Given the description of an element on the screen output the (x, y) to click on. 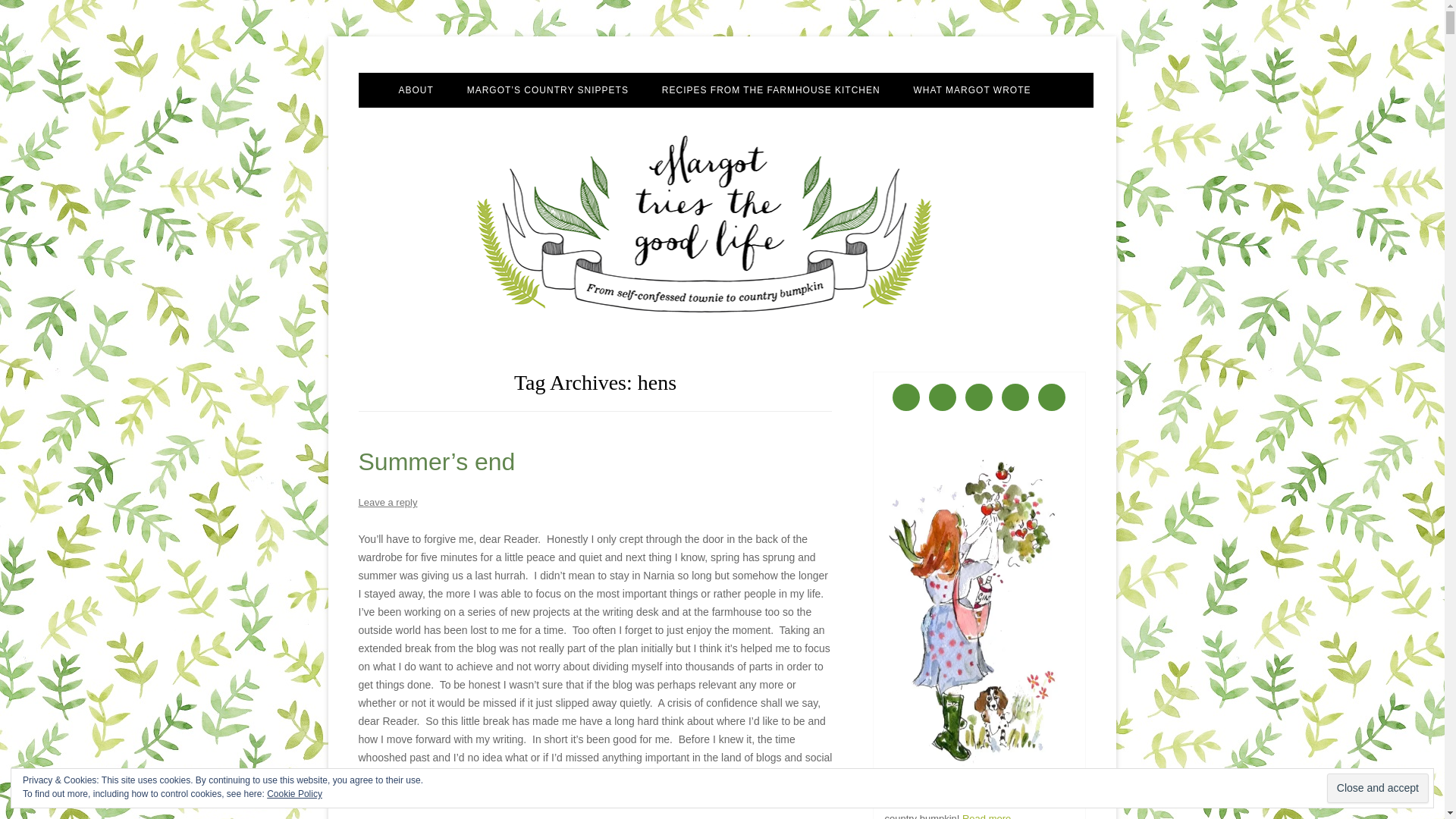
Close and accept (1377, 788)
THE FARMYARD (542, 122)
ABOUT (414, 90)
Margot Tries the Good Life (482, 72)
WHAT MARGOT WROTE (972, 90)
Leave a reply (387, 501)
Margot Tries the Good Life (482, 72)
RECIPES FROM THE FARMHOUSE KITCHEN (771, 90)
